Given the description of an element on the screen output the (x, y) to click on. 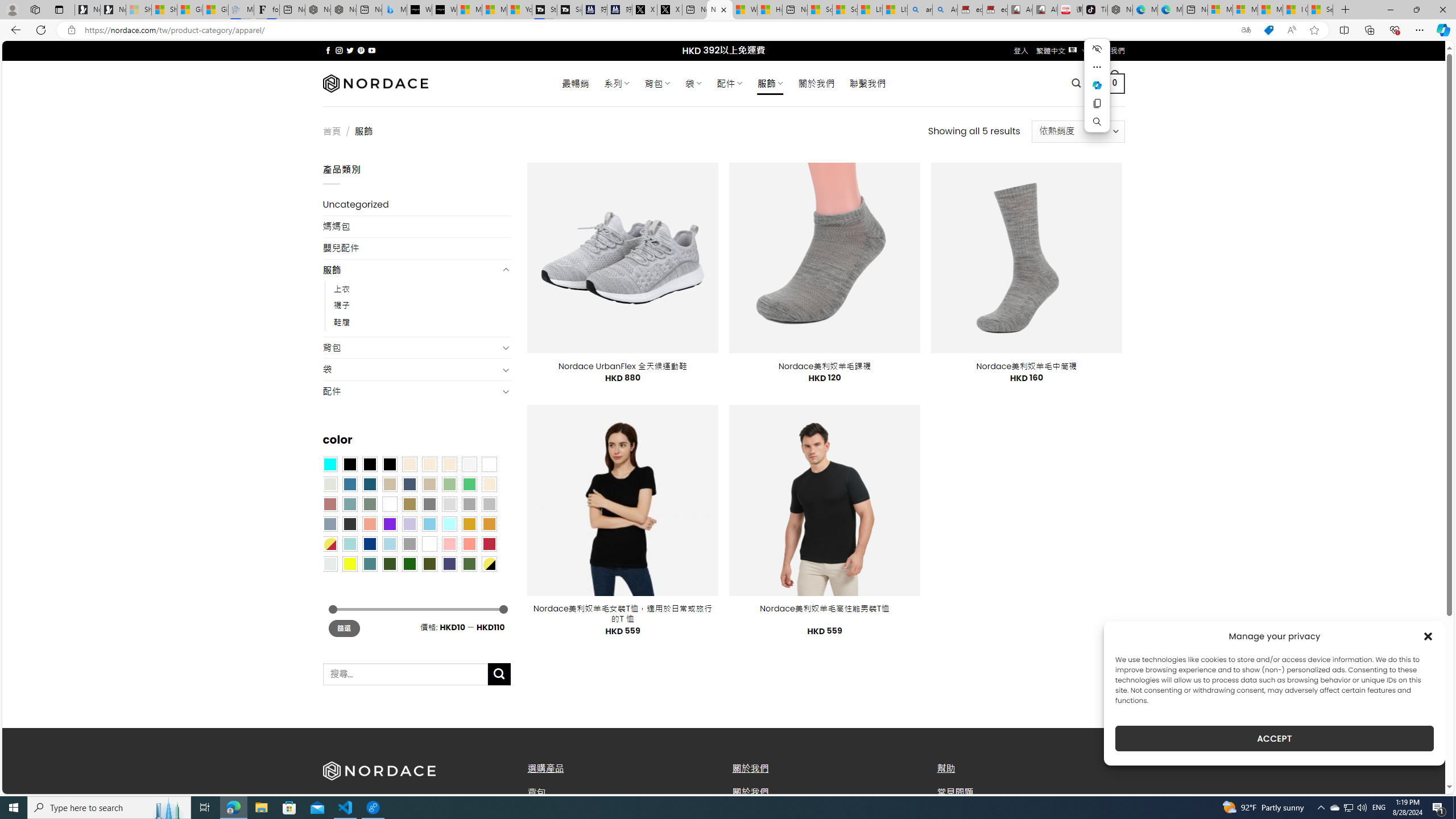
All Cubot phones (1044, 9)
Follow on Facebook (327, 50)
Settings and more (Alt+F) (1419, 29)
Class: cmplz-close (1428, 636)
Workspaces (34, 9)
Cream (449, 464)
